Given the description of an element on the screen output the (x, y) to click on. 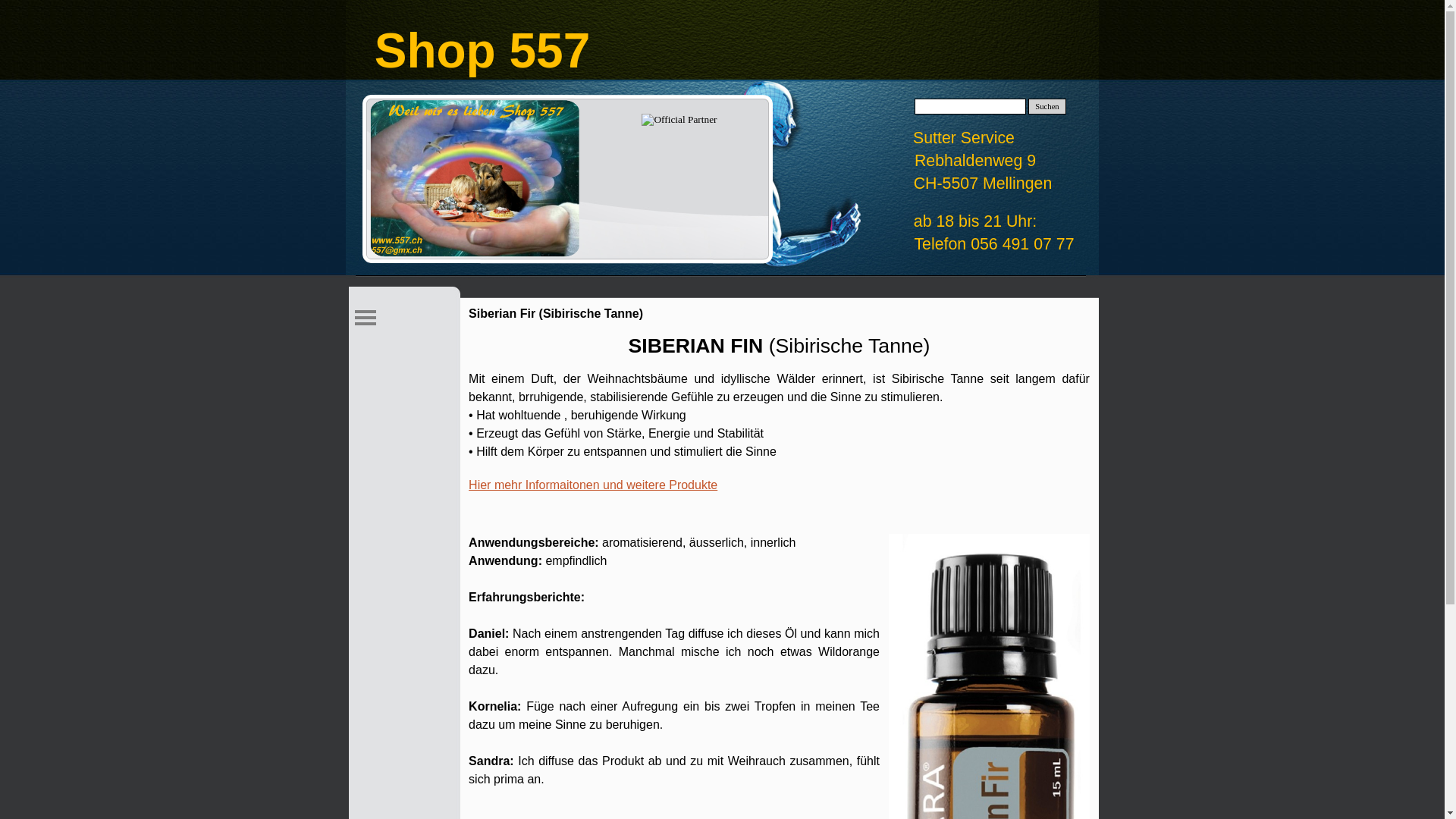
Shop 557 Element type: hover (474, 177)
Suchen Element type: text (1047, 106)
Hier mehr Informaitonen und weitere Produkte Element type: text (592, 484)
Official Partner Element type: hover (678, 119)
